Given the description of an element on the screen output the (x, y) to click on. 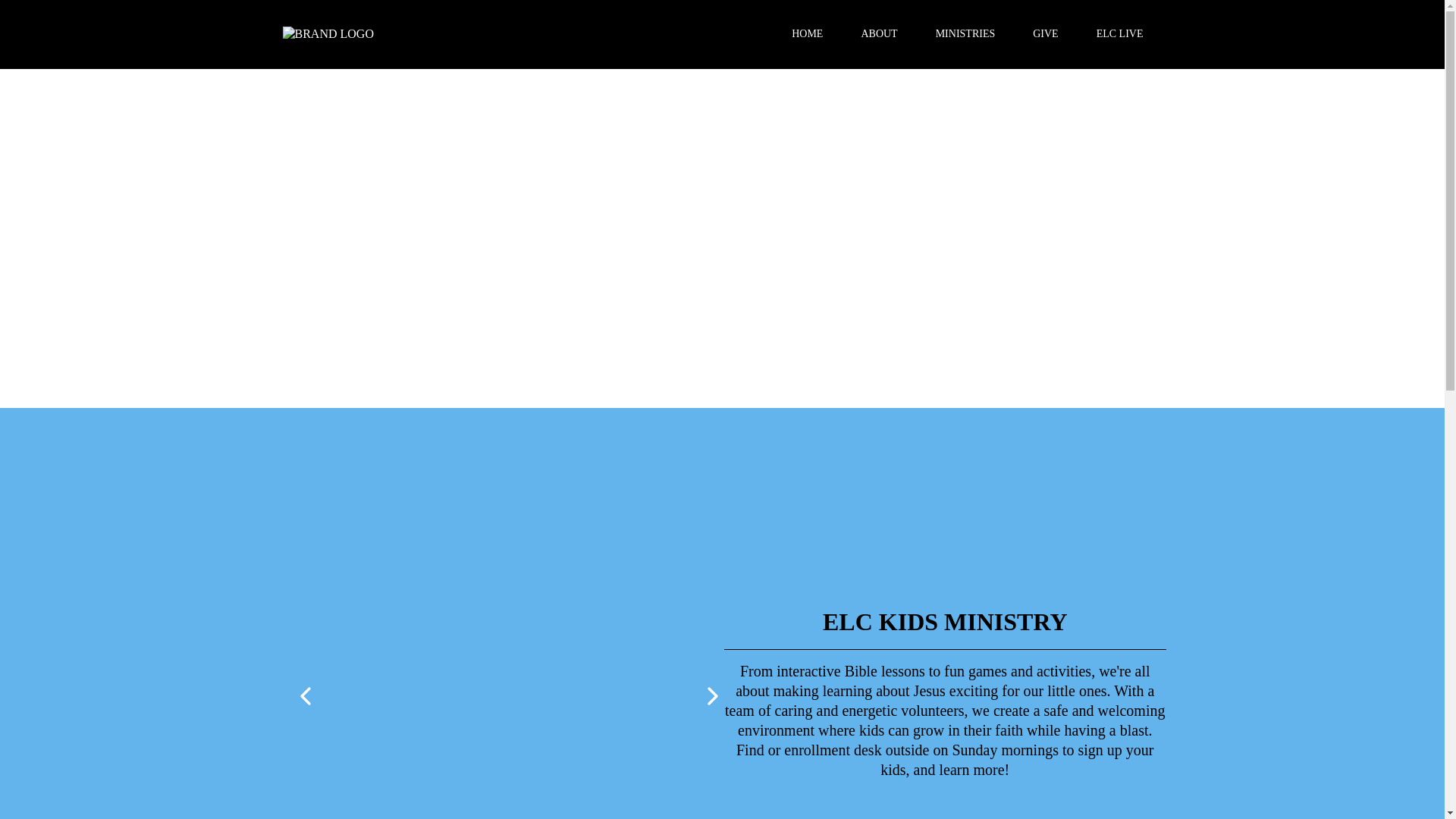
ABOUT (878, 33)
GIVE (1045, 33)
HOME (807, 33)
MINISTRIES (965, 33)
ELC LIVE (1119, 33)
